Given the description of an element on the screen output the (x, y) to click on. 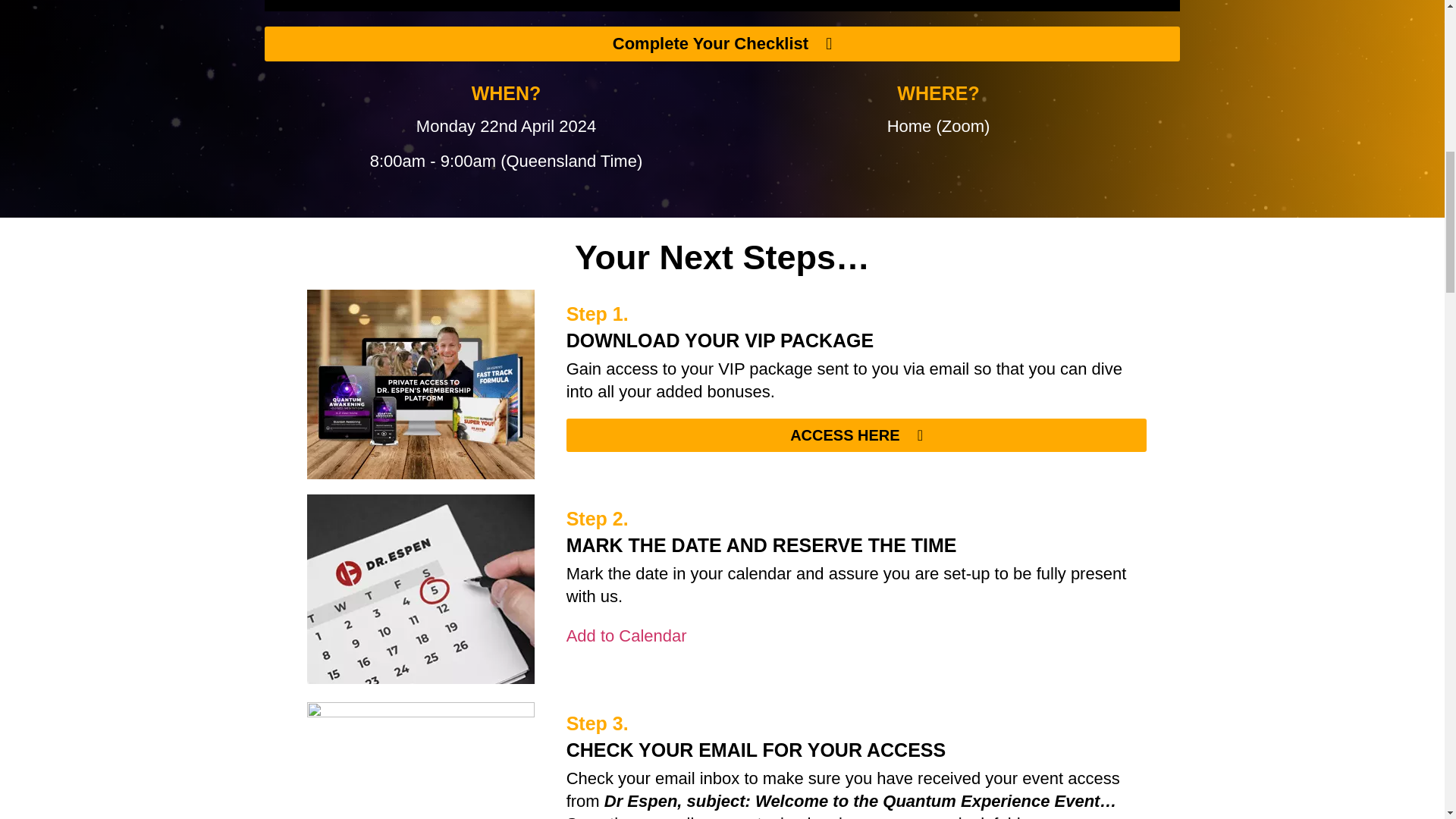
Add to Calendar (626, 635)
vimeo Video Player (721, 6)
Add to Calendar (626, 635)
ACCESS HERE (856, 435)
Complete Your Checklist (721, 43)
